Given the description of an element on the screen output the (x, y) to click on. 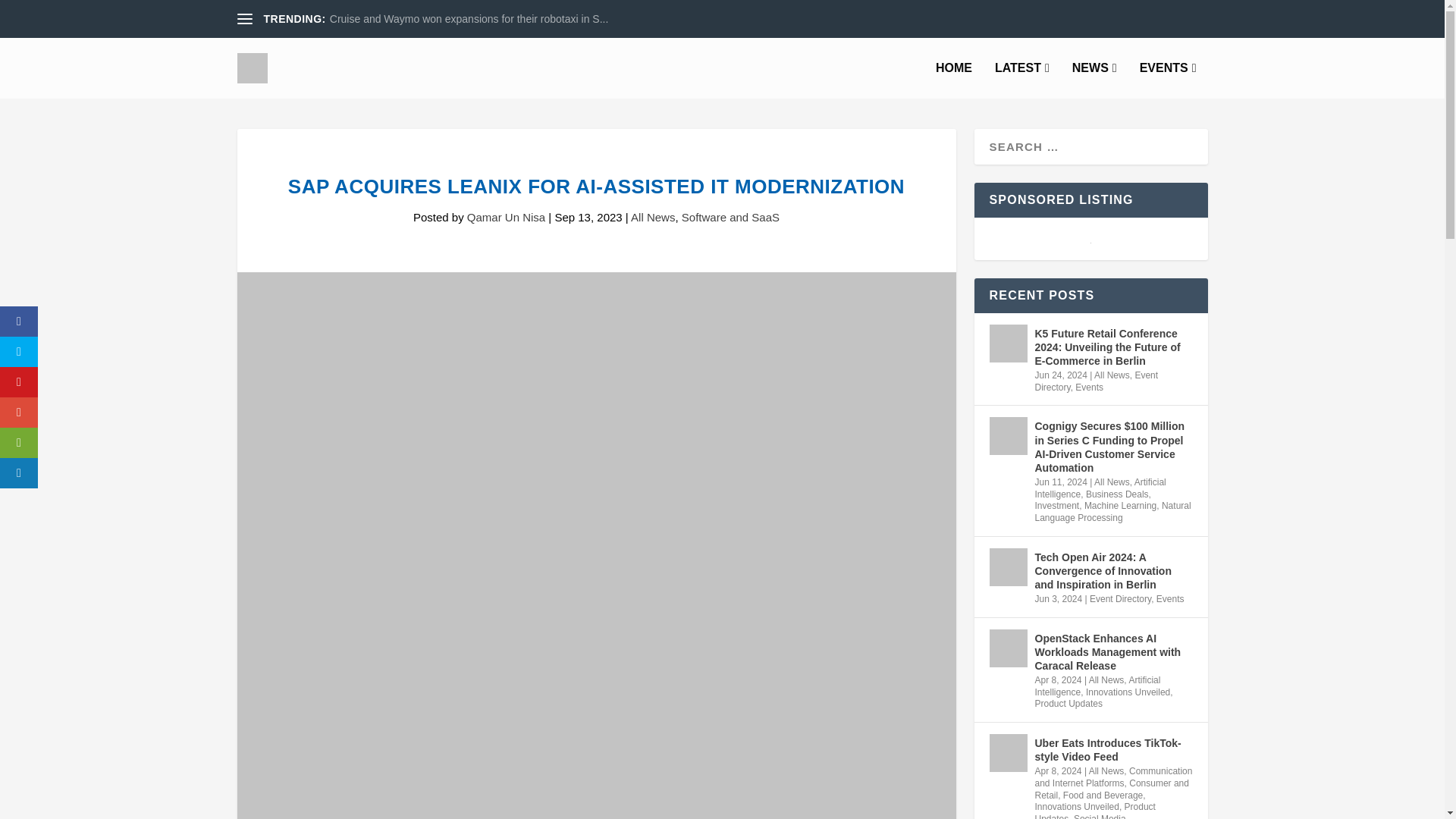
NEWS (1093, 80)
Cruise and Waymo won expansions for their robotaxi in S... (469, 19)
LATEST (1021, 80)
HOME (954, 80)
